Given the description of an element on the screen output the (x, y) to click on. 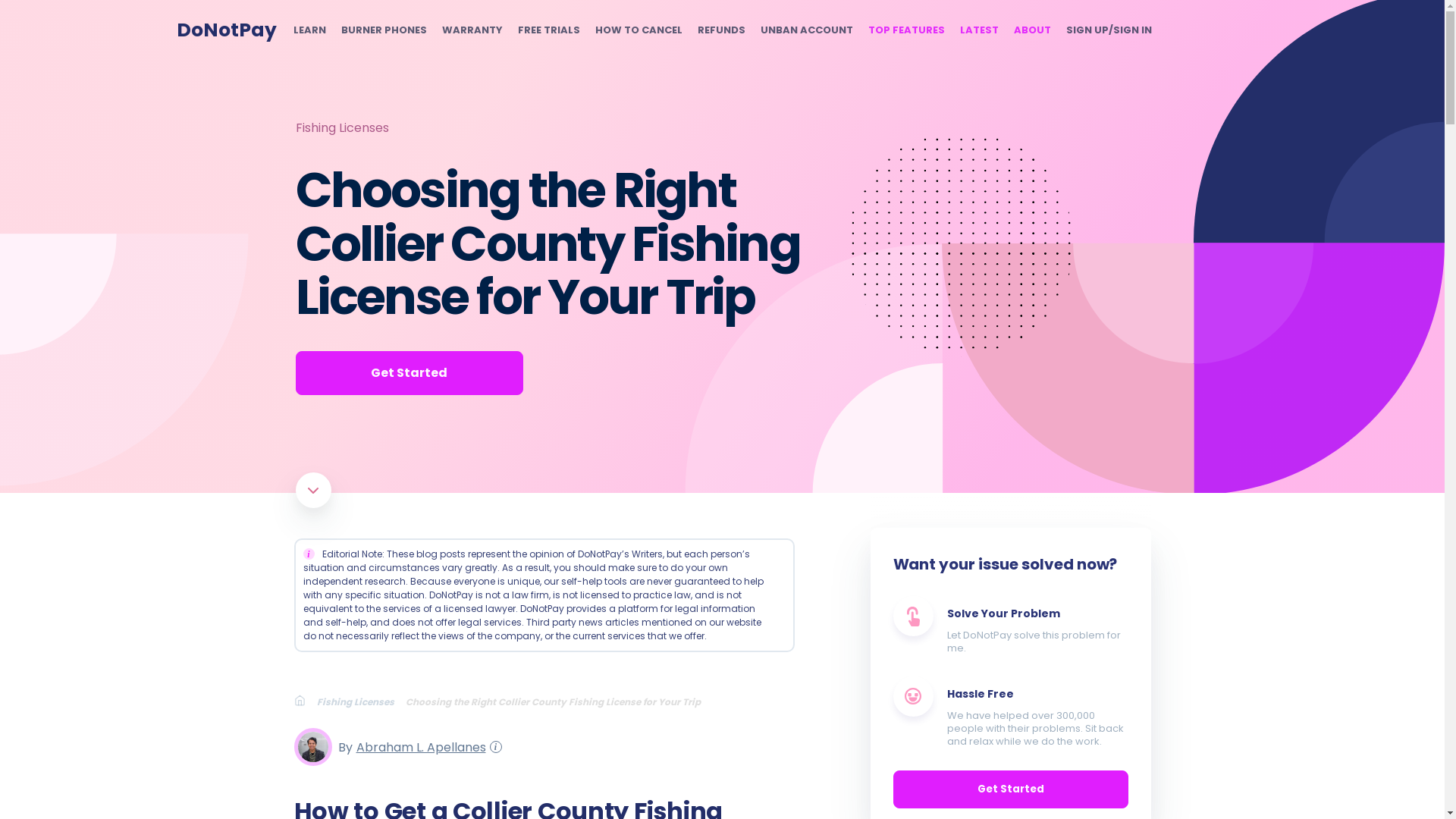
REFUNDS (721, 29)
FREE TRIALS (547, 29)
TOP FEATURES (905, 29)
Fishing Licenses (361, 700)
UNBAN ACCOUNT (805, 29)
HOW TO CANCEL (637, 29)
BURNER PHONES (383, 29)
Fishing Licenses (341, 127)
Abraham L. Apellanes (418, 746)
Get Started (408, 372)
